Given the description of an element on the screen output the (x, y) to click on. 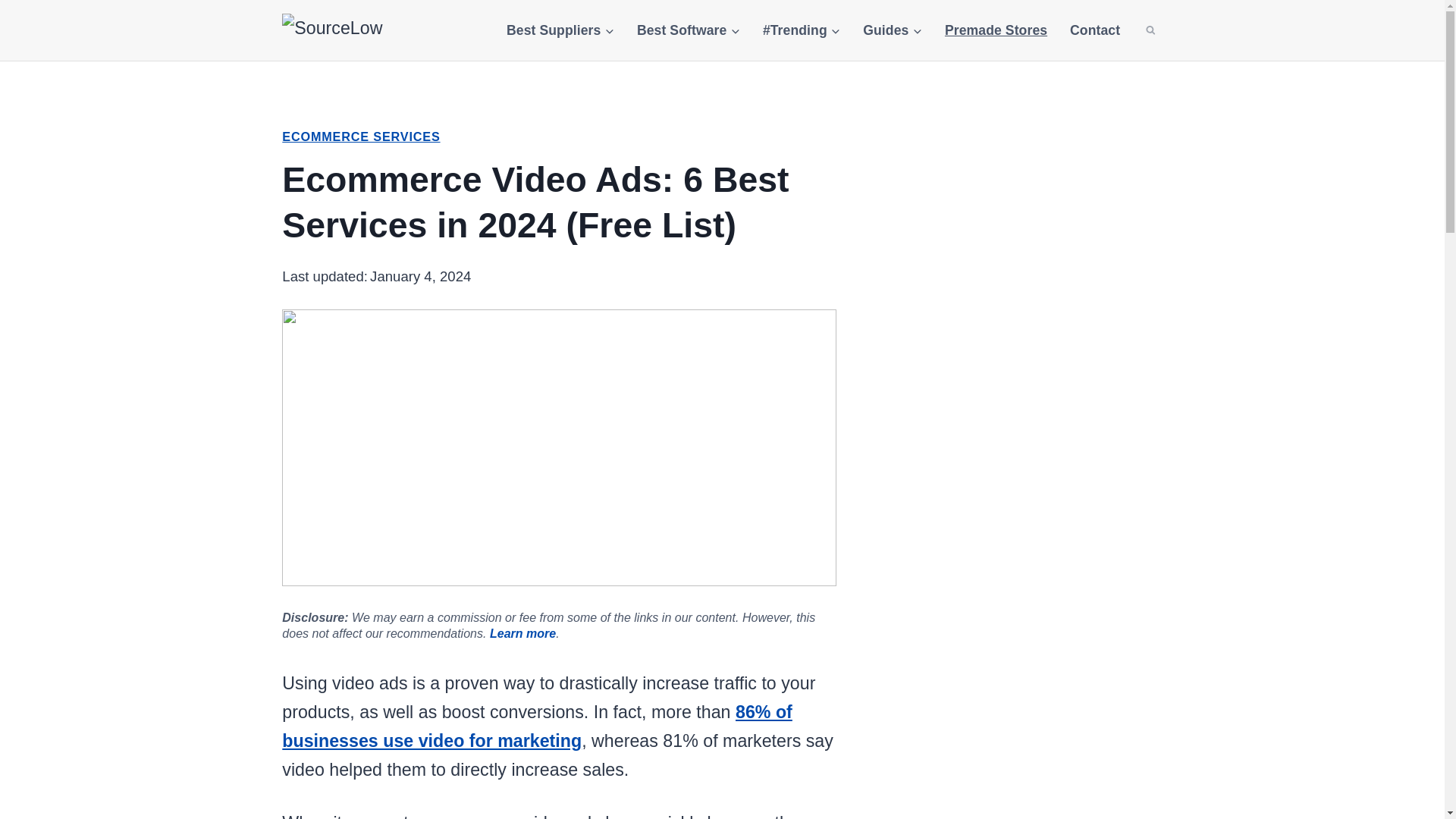
Premade Stores (995, 29)
Guides (892, 29)
Best Suppliers (560, 29)
Contact (1094, 29)
Best Software (688, 29)
